Given the description of an element on the screen output the (x, y) to click on. 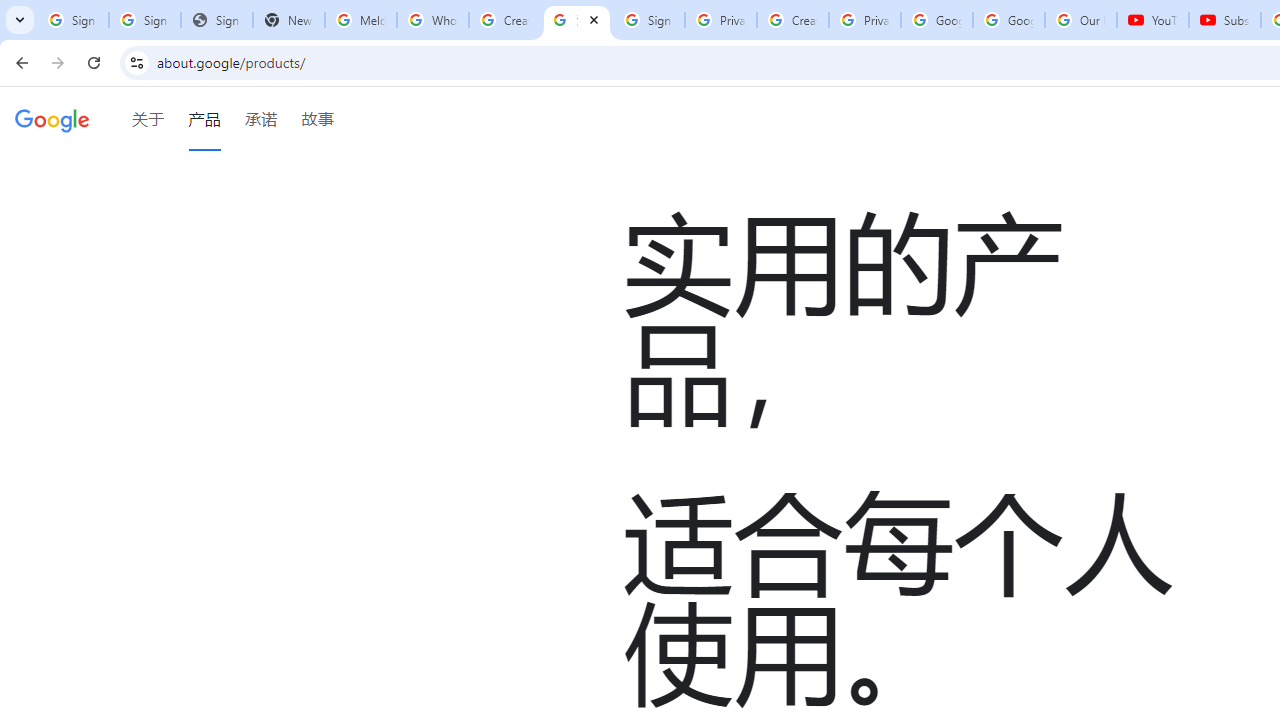
Create your Google Account (504, 20)
Who is my administrator? - Google Account Help (432, 20)
Forward (57, 62)
YouTube (1153, 20)
Back (19, 62)
View site information (136, 62)
Create your Google Account (792, 20)
